Given the description of an element on the screen output the (x, y) to click on. 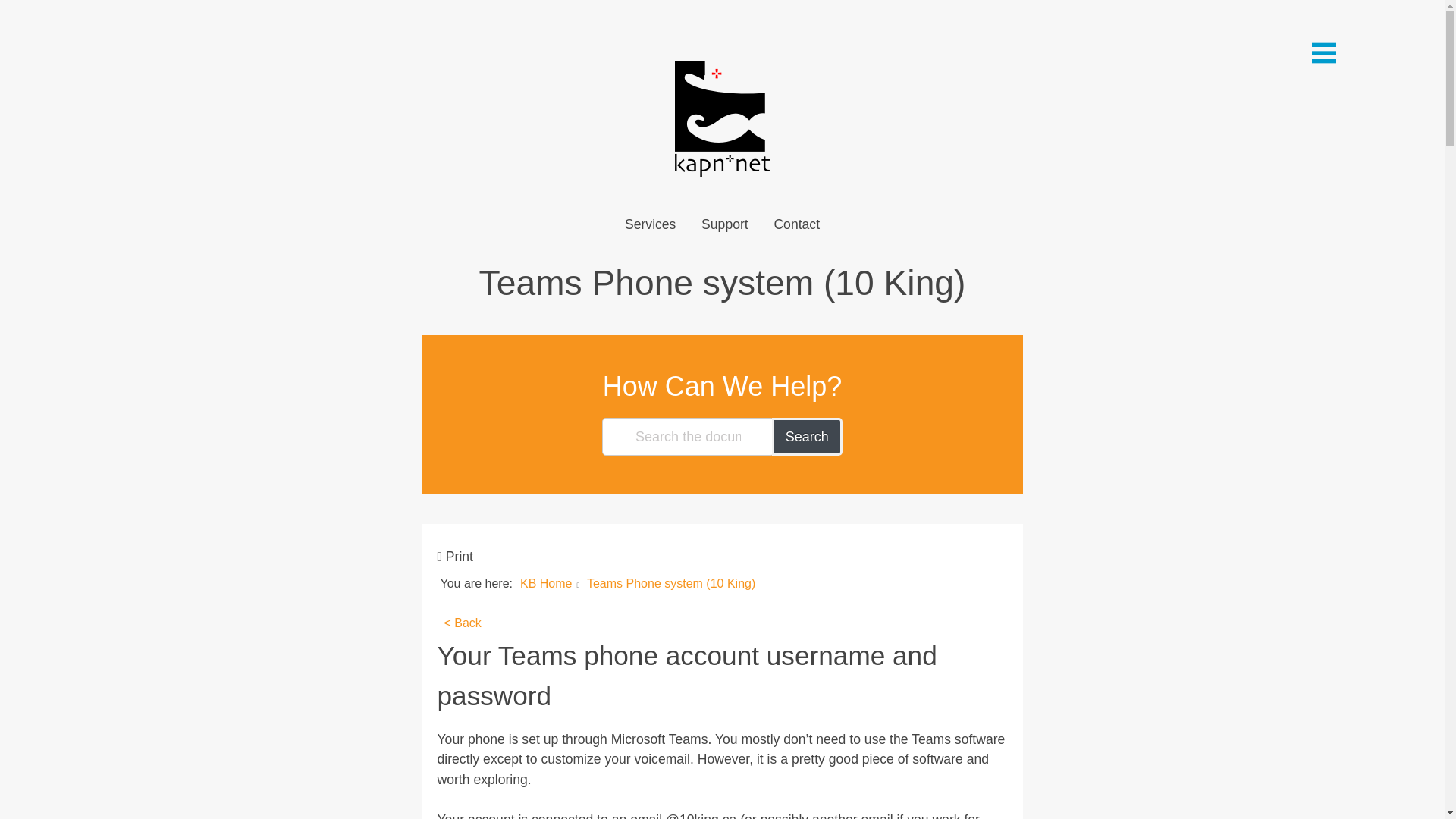
Show sidebar (1323, 52)
Contact (796, 224)
Support (724, 224)
Search (807, 436)
Services (649, 224)
KB Home (545, 583)
